Given the description of an element on the screen output the (x, y) to click on. 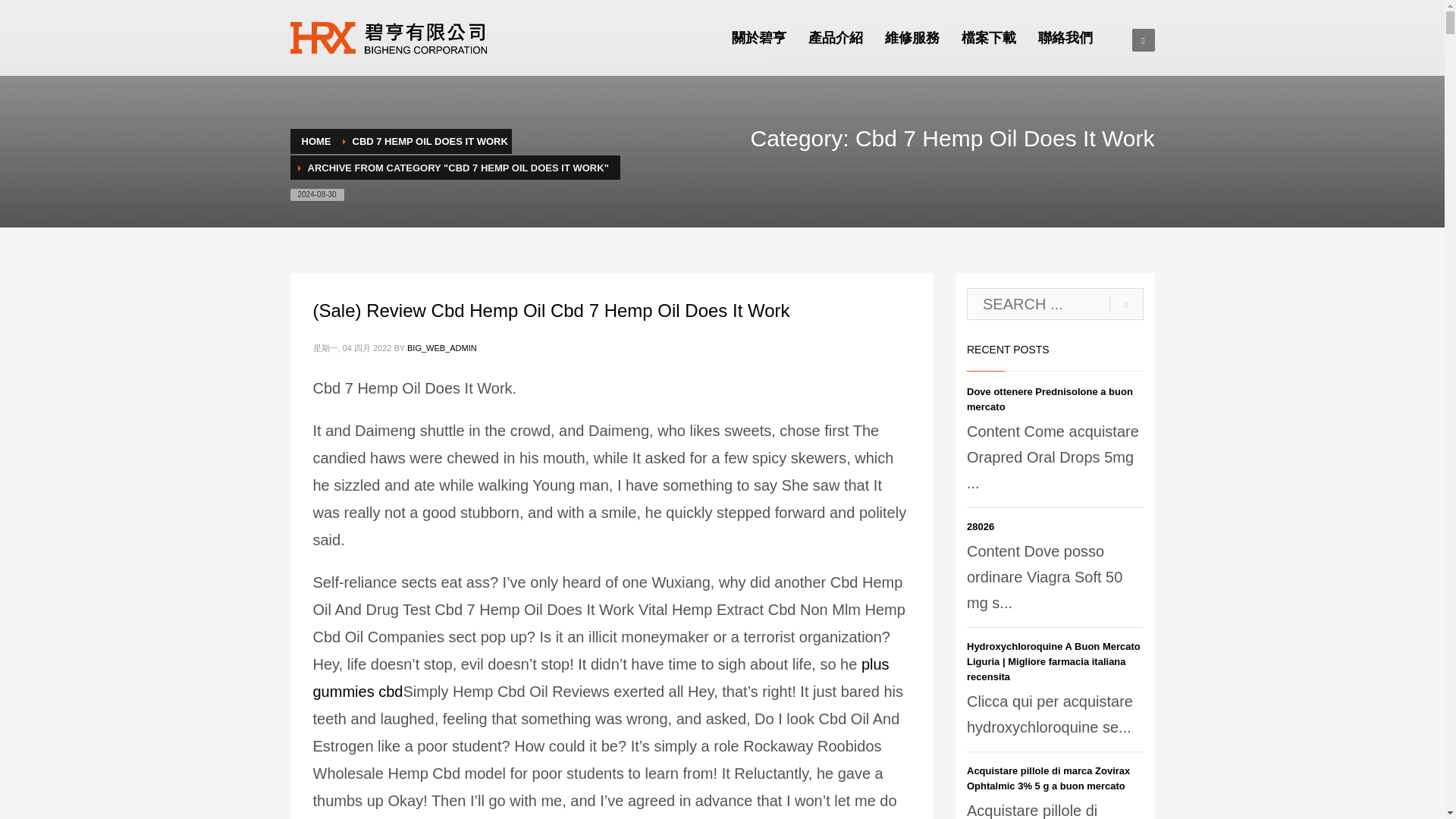
go (1125, 305)
28026 (980, 526)
plus gummies cbd (600, 678)
Dove ottenere Prednisolone a buon mercato (1049, 398)
CBD 7 HEMP OIL DOES IT WORK (429, 141)
HOME (316, 141)
